Given the description of an element on the screen output the (x, y) to click on. 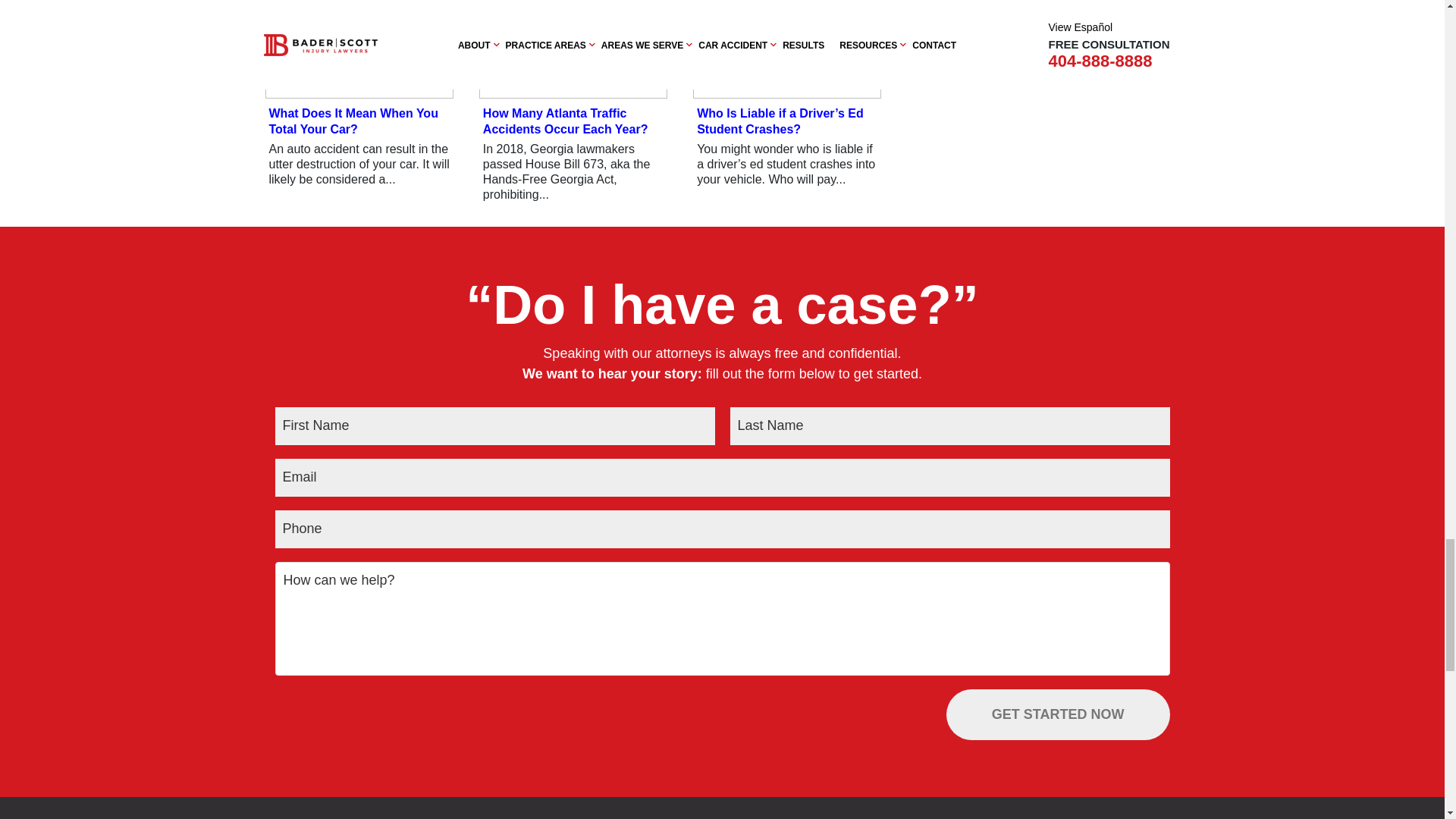
Get Started Now (1058, 714)
What Does It Mean When You Total Your Car? (358, 49)
How Many Atlanta Traffic Accidents Occur Each Year? (572, 49)
